Given the description of an element on the screen output the (x, y) to click on. 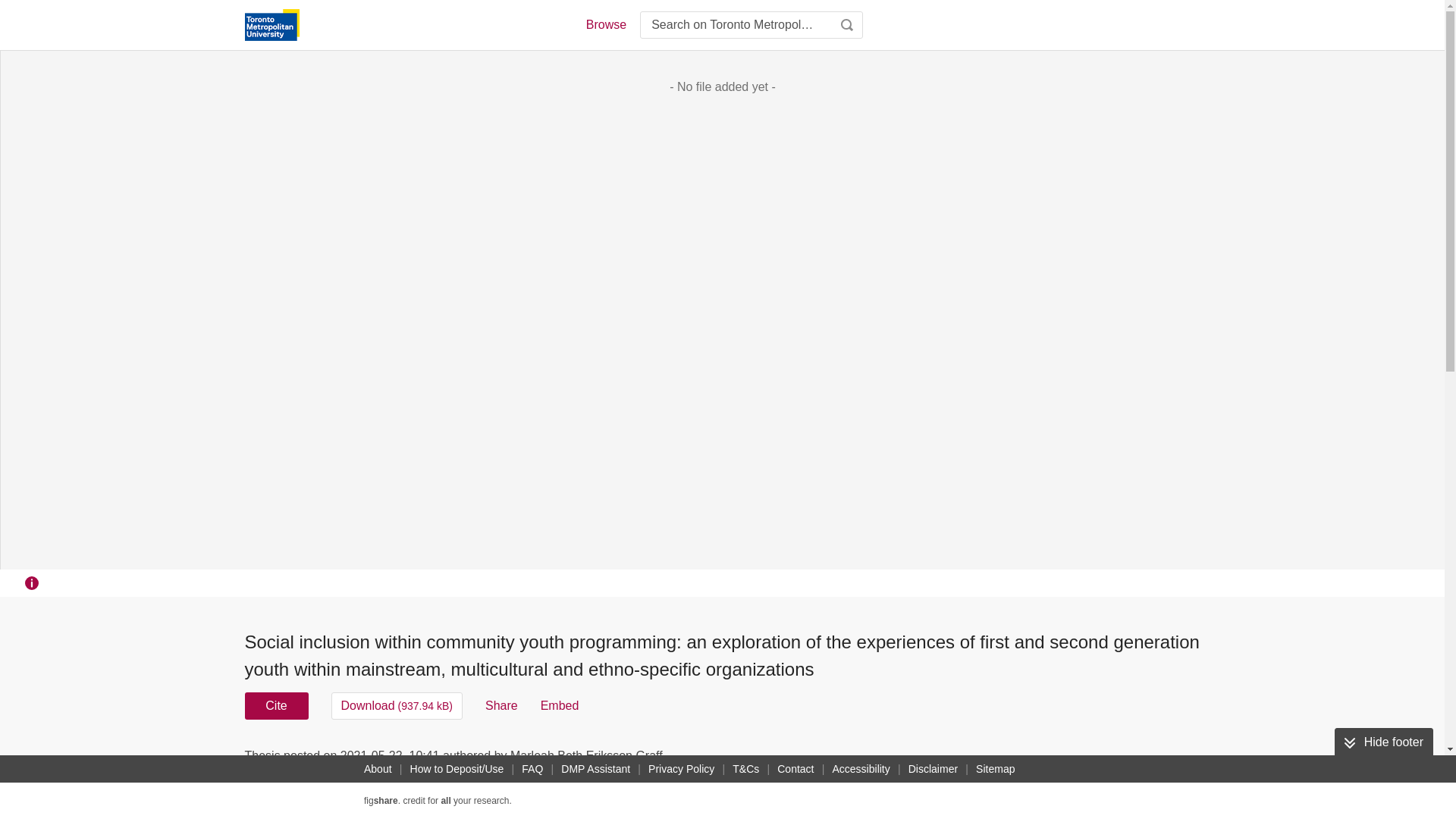
FAQ (531, 769)
USAGE METRICS (976, 759)
Cite (275, 705)
Embed (559, 705)
Share (501, 705)
Disclaimer (933, 769)
Hide footer (1383, 742)
Contact (795, 769)
Browse (605, 24)
About (377, 769)
